Given the description of an element on the screen output the (x, y) to click on. 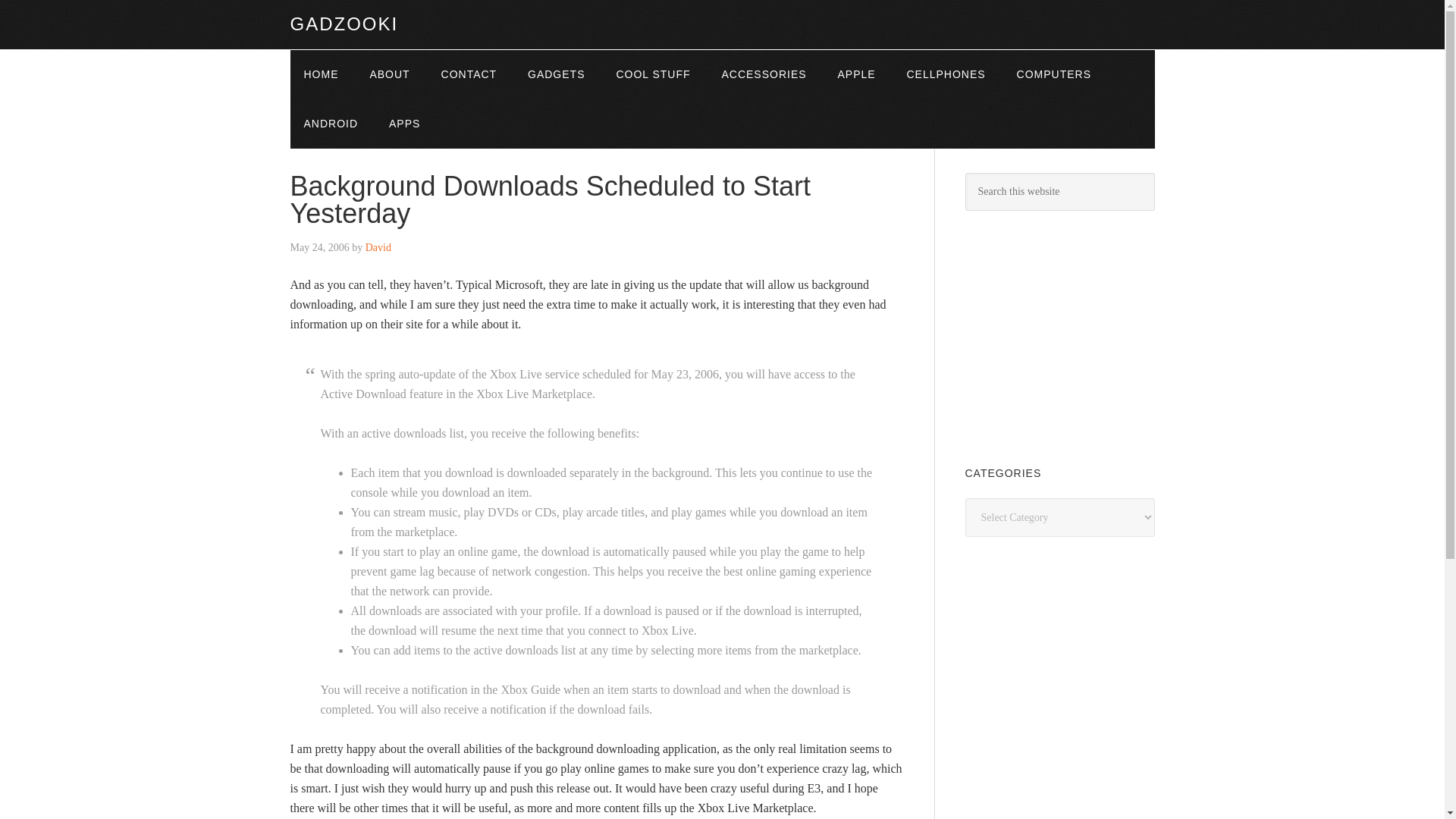
ACCESSORIES (763, 74)
ABOUT (389, 74)
Advertisement (1077, 335)
GADZOOKI (343, 23)
CONTACT (469, 74)
COMPUTERS (1054, 74)
David (378, 247)
HOME (320, 74)
COOL STUFF (652, 74)
